Given the description of an element on the screen output the (x, y) to click on. 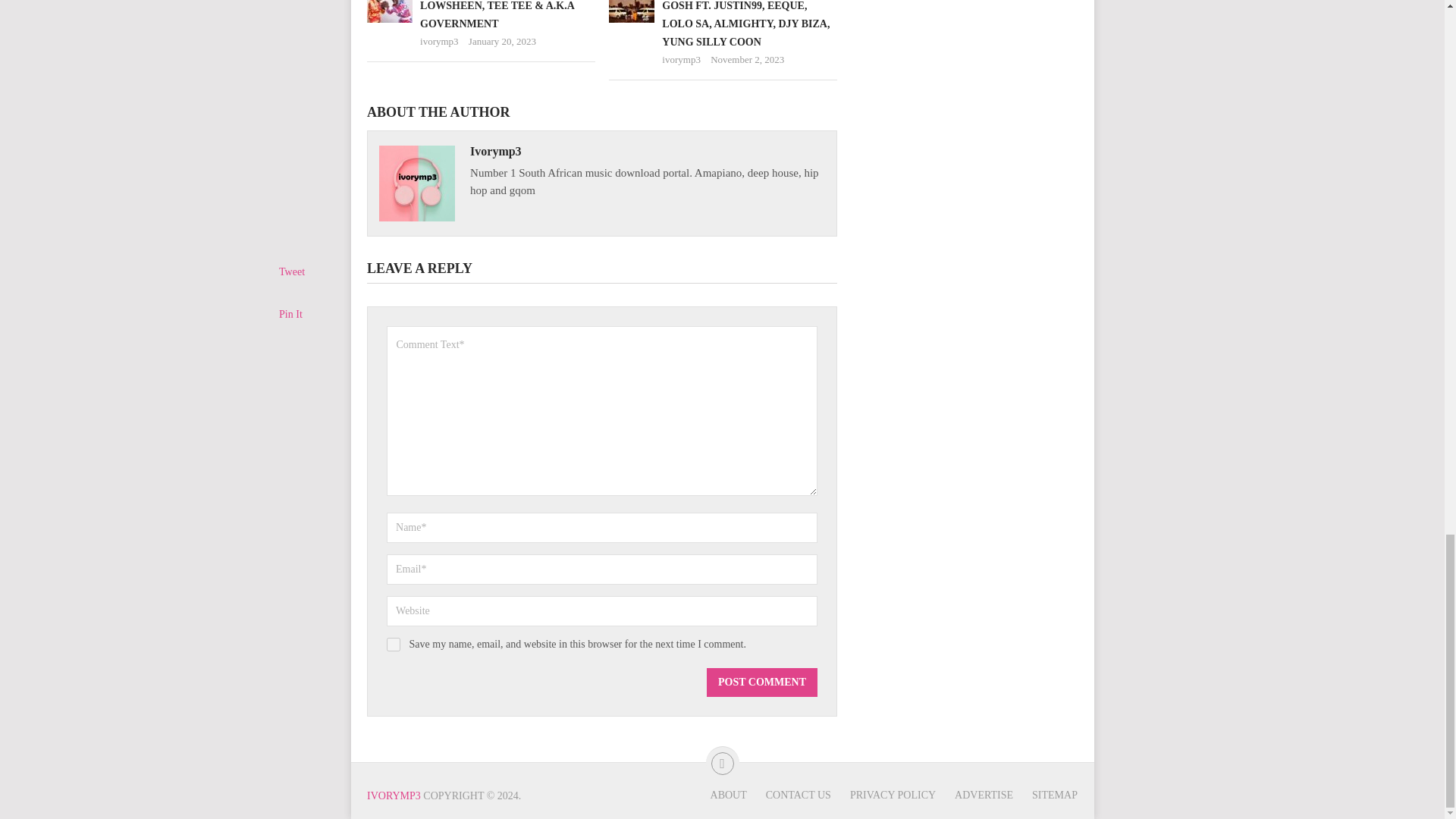
Post Comment (761, 682)
yes (393, 644)
